Given the description of an element on the screen output the (x, y) to click on. 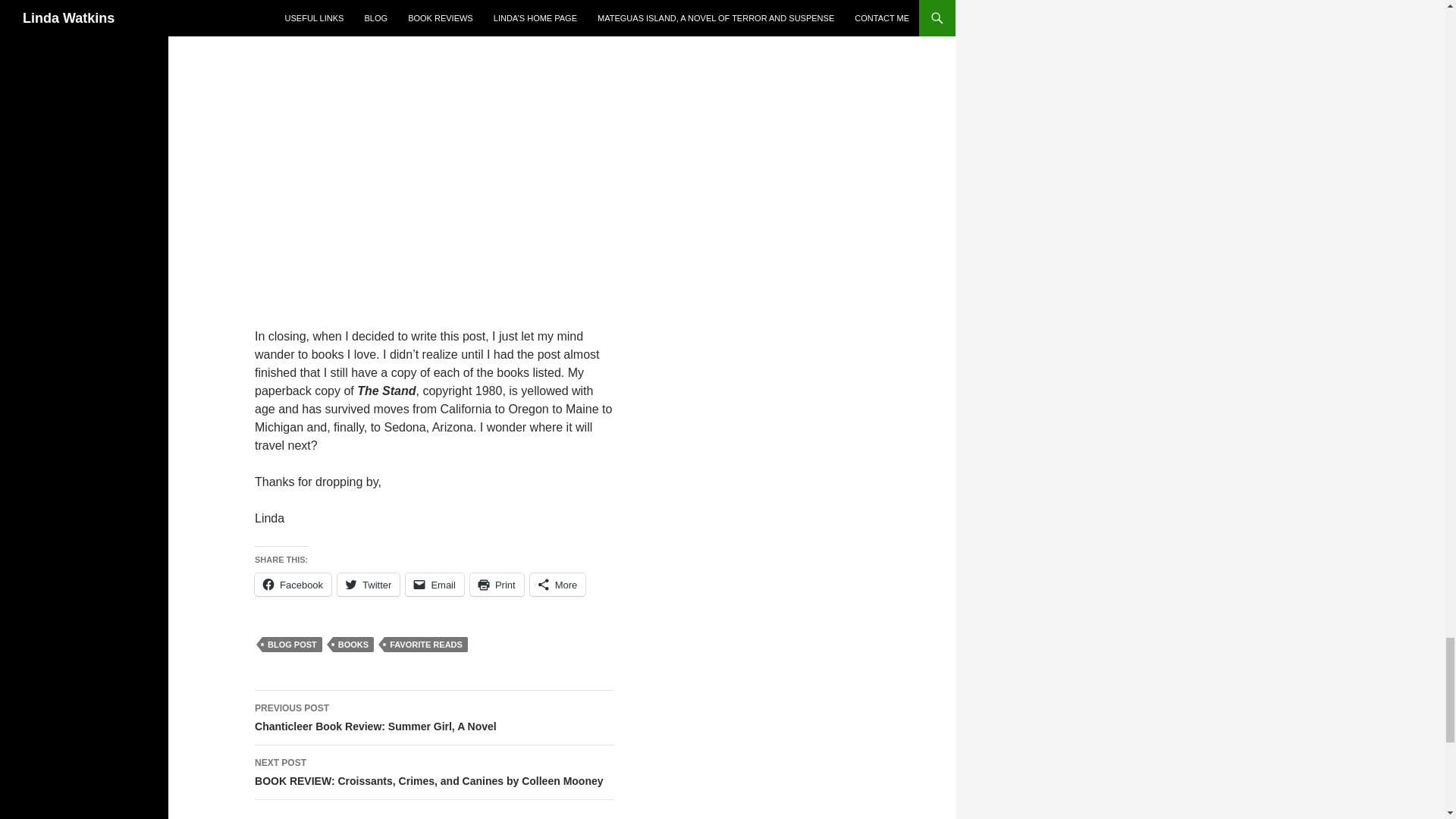
Facebook (292, 584)
FAVORITE READS (425, 644)
Print (497, 584)
BOOKS (353, 644)
Click to email a link to a friend (435, 584)
BLOG POST (291, 644)
Twitter (434, 718)
More (367, 584)
